Given the description of an element on the screen output the (x, y) to click on. 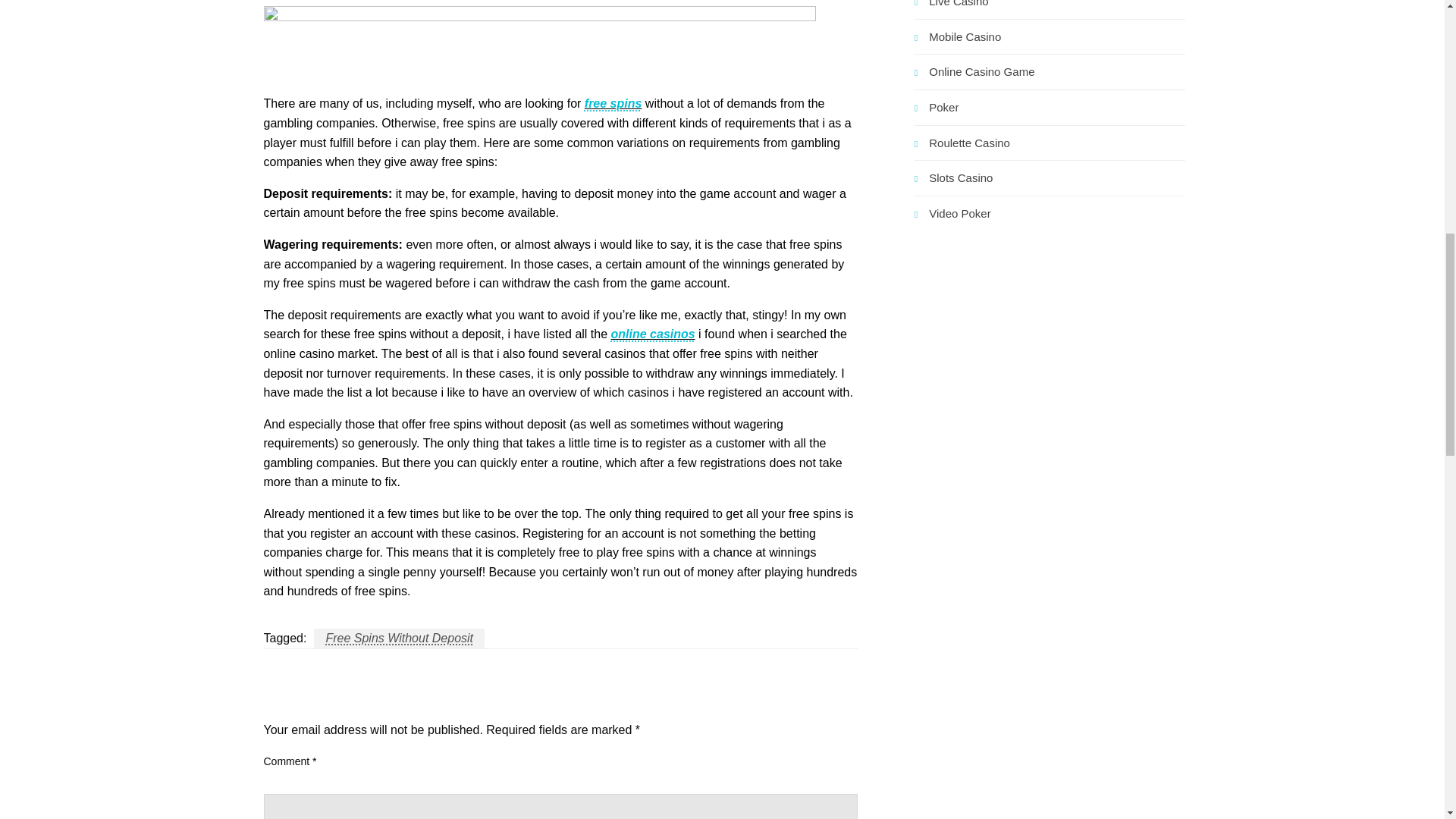
Free Spins Without Deposit (399, 638)
online casinos (653, 333)
free spins (613, 103)
